Given the description of an element on the screen output the (x, y) to click on. 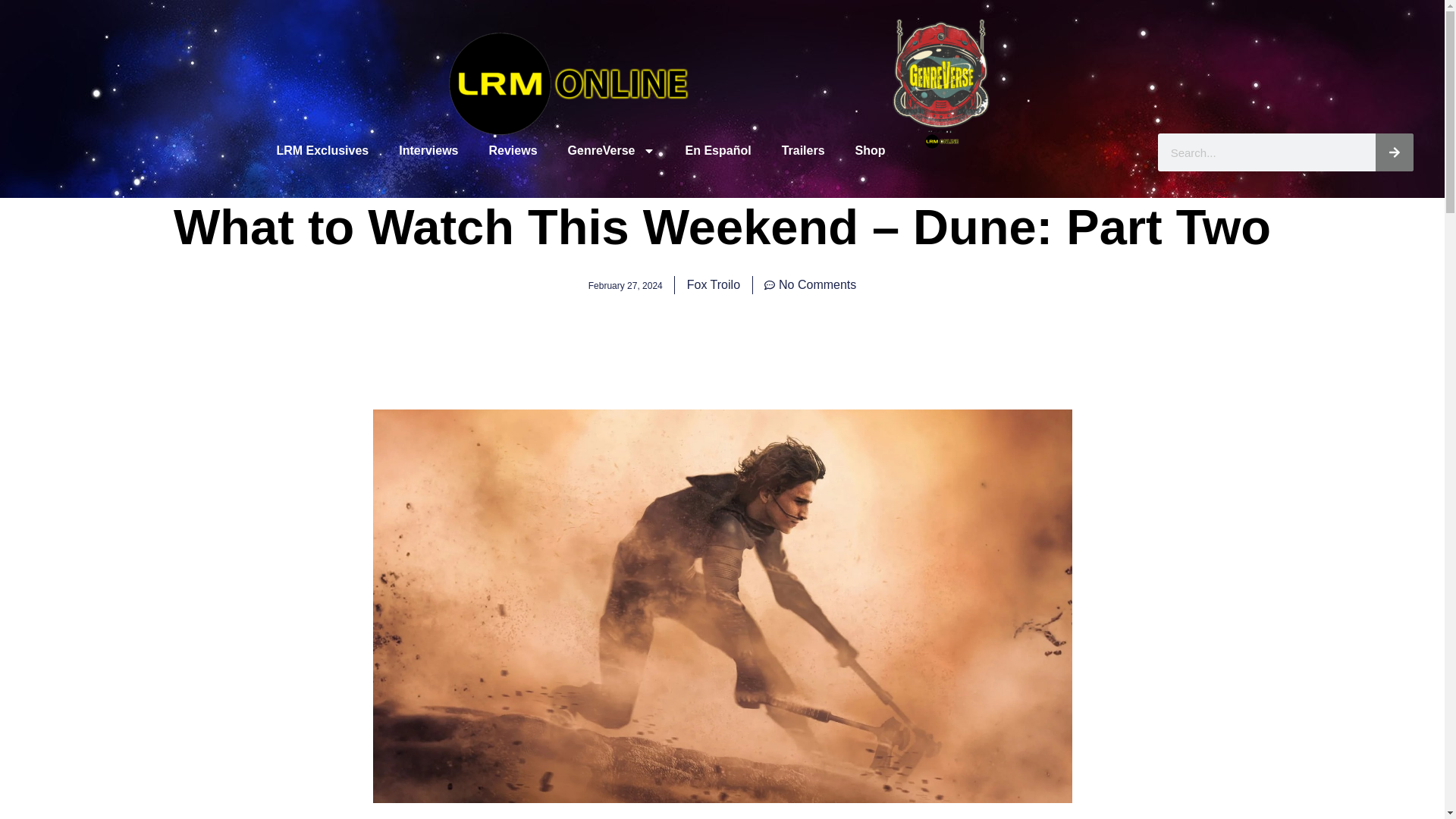
Reviews (513, 150)
Interviews (428, 150)
Trailers (803, 150)
GenreVerse (611, 150)
LRM Exclusives (322, 150)
Shop (870, 150)
February 27, 2024 (625, 285)
No Comments (810, 285)
Fox Troilo (713, 285)
